Given the description of an element on the screen output the (x, y) to click on. 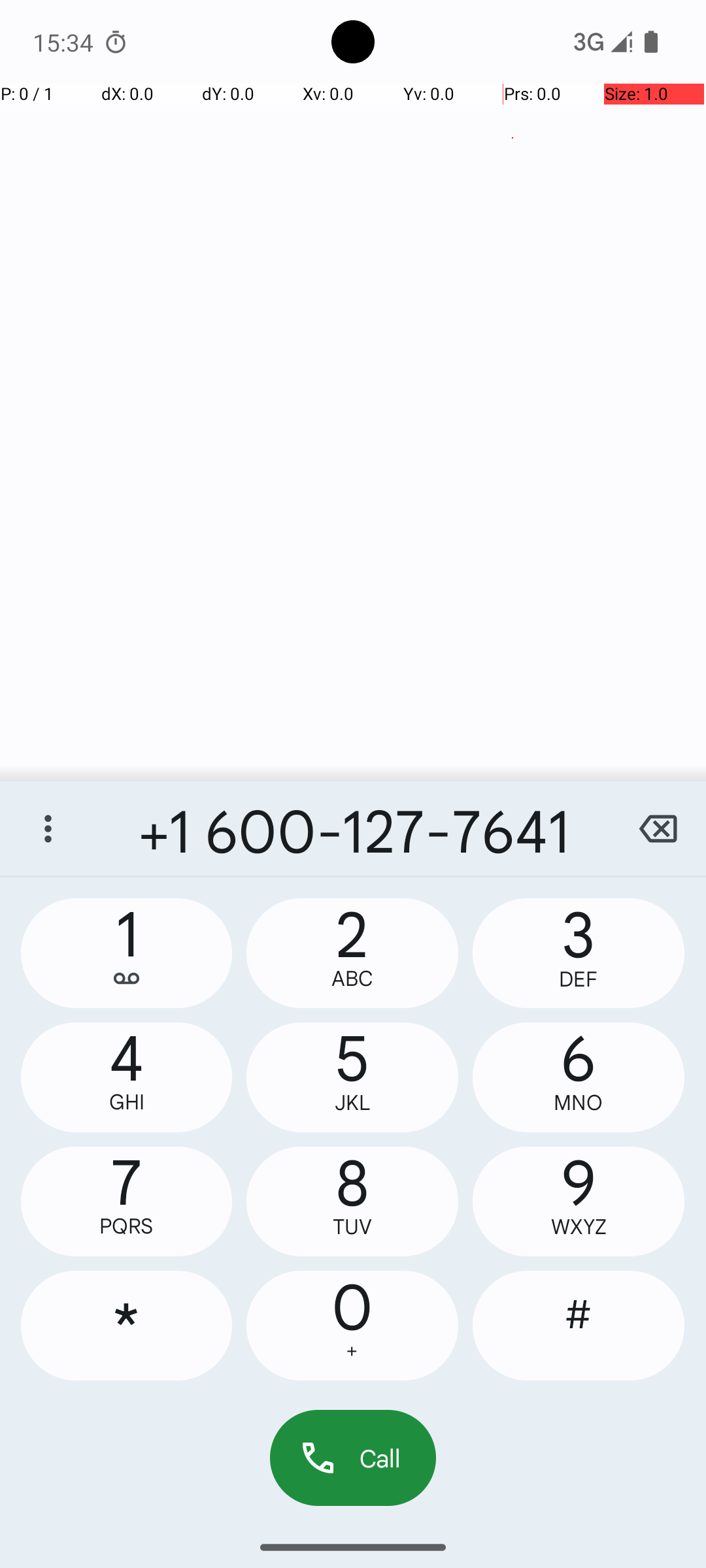
+1 600-127-7641 Element type: android.widget.EditText (352, 828)
